Given the description of an element on the screen output the (x, y) to click on. 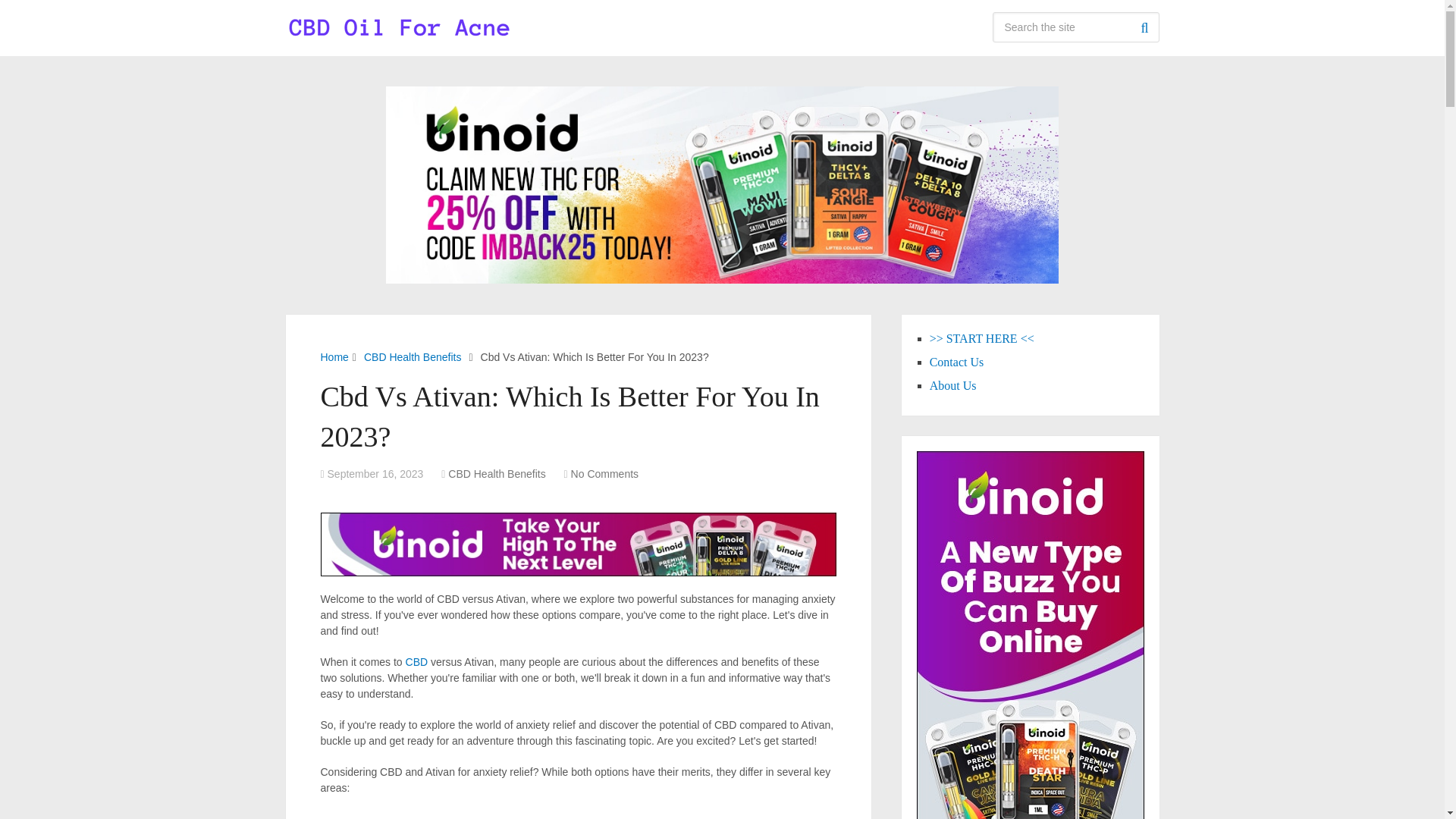
CBD Health Benefits (412, 357)
Home (333, 357)
No Comments (604, 473)
CBD (417, 662)
Search (1143, 27)
CBD Health Benefits (496, 473)
View all posts in CBD Health Benefits (496, 473)
